Given the description of an element on the screen output the (x, y) to click on. 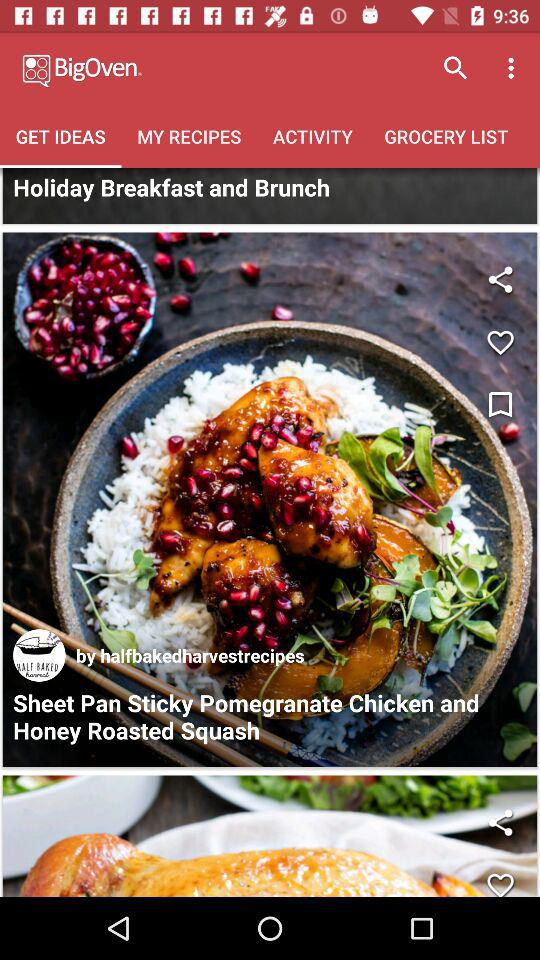
scroll to by halfbakedharvestrecipes icon (190, 655)
